Given the description of an element on the screen output the (x, y) to click on. 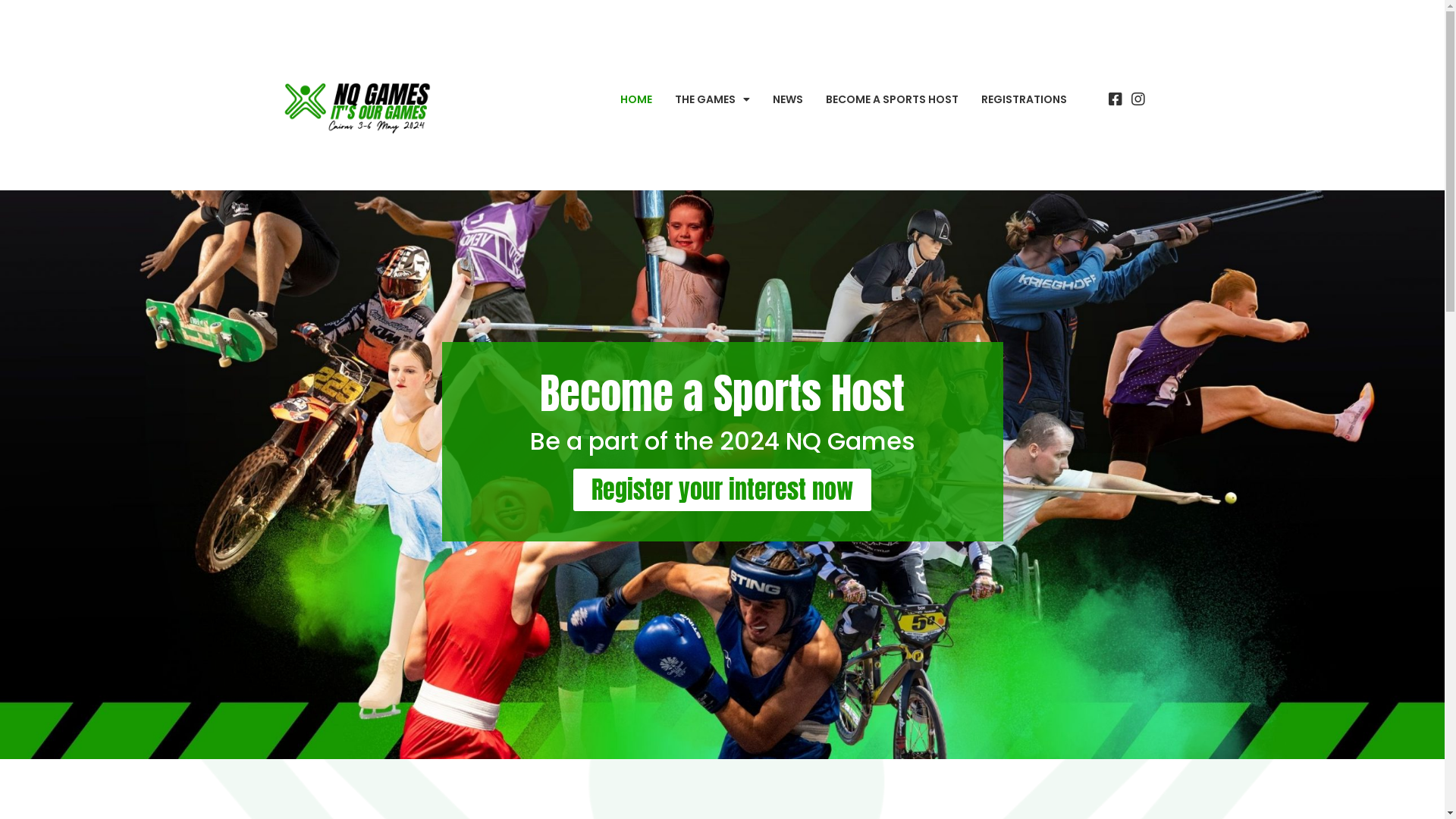
Register your interest now Element type: text (722, 489)
REGISTRATIONS Element type: text (1023, 98)
HOME Element type: text (635, 98)
BECOME A SPORTS HOST Element type: text (891, 98)
THE GAMES Element type: text (712, 98)
NEWS Element type: text (787, 98)
